Given the description of an element on the screen output the (x, y) to click on. 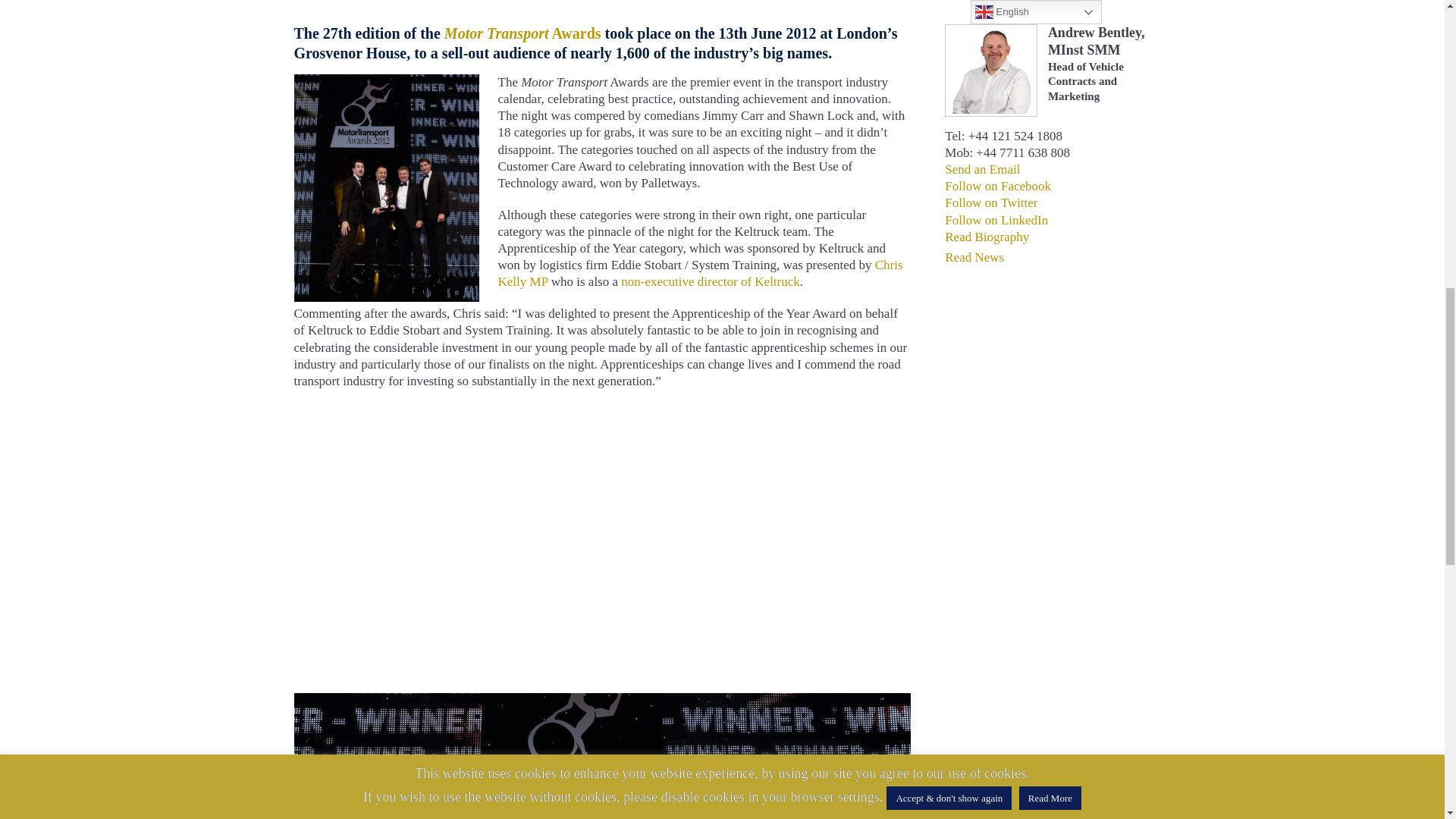
Motor Transport Awards 2012 (386, 80)
YouTube video player 1 (521, 541)
Motor Transport Awards (602, 700)
